Given the description of an element on the screen output the (x, y) to click on. 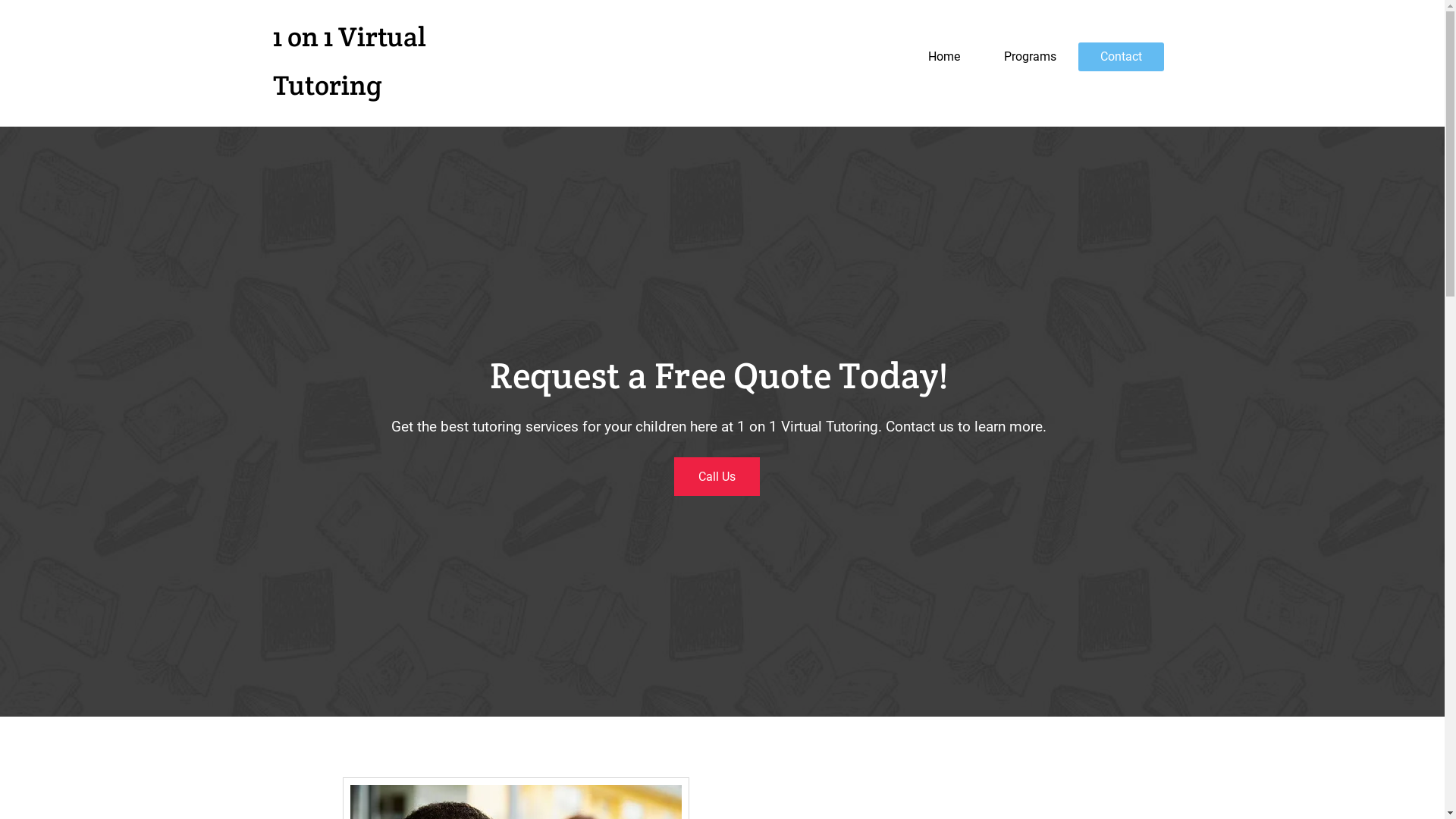
Call Us Element type: text (716, 476)
Home Element type: text (943, 56)
Contact Element type: text (1121, 56)
Programs Element type: text (1029, 56)
